Given the description of an element on the screen output the (x, y) to click on. 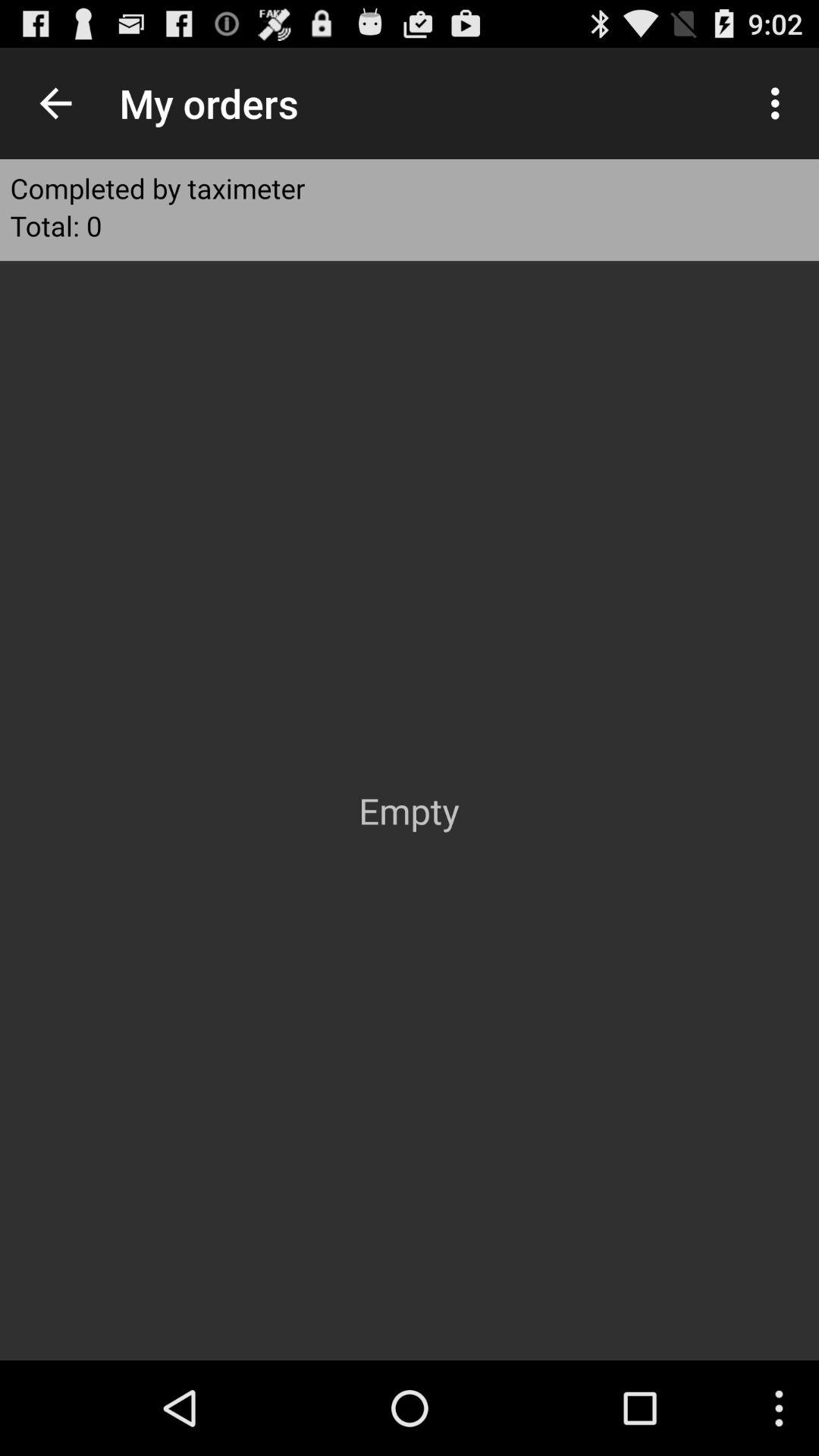
turn on the icon above completed by taximeter icon (55, 103)
